Given the description of an element on the screen output the (x, y) to click on. 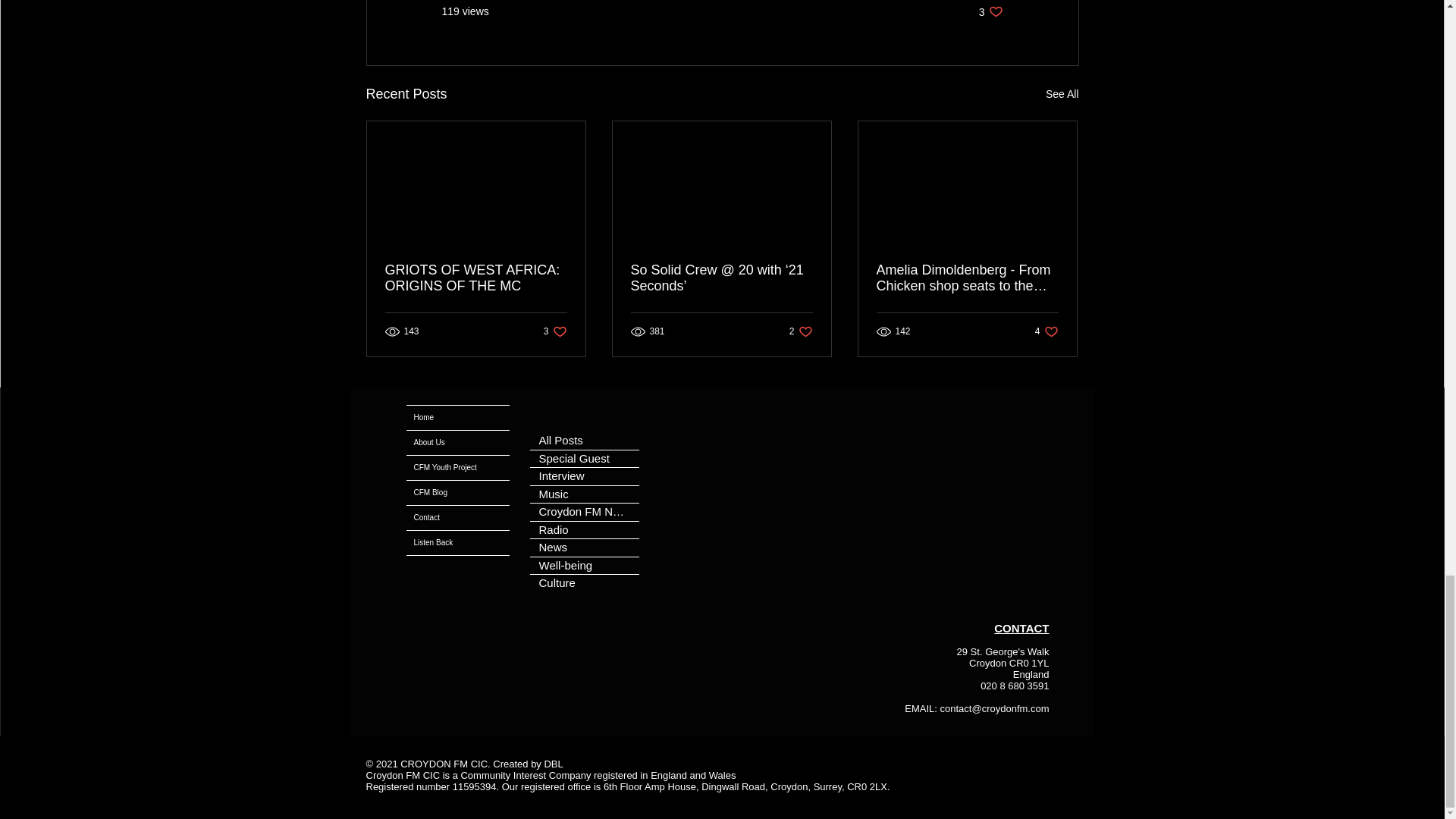
GRIOTS OF WEST AFRICA: ORIGINS OF THE MC (990, 11)
See All (476, 278)
